Given the description of an element on the screen output the (x, y) to click on. 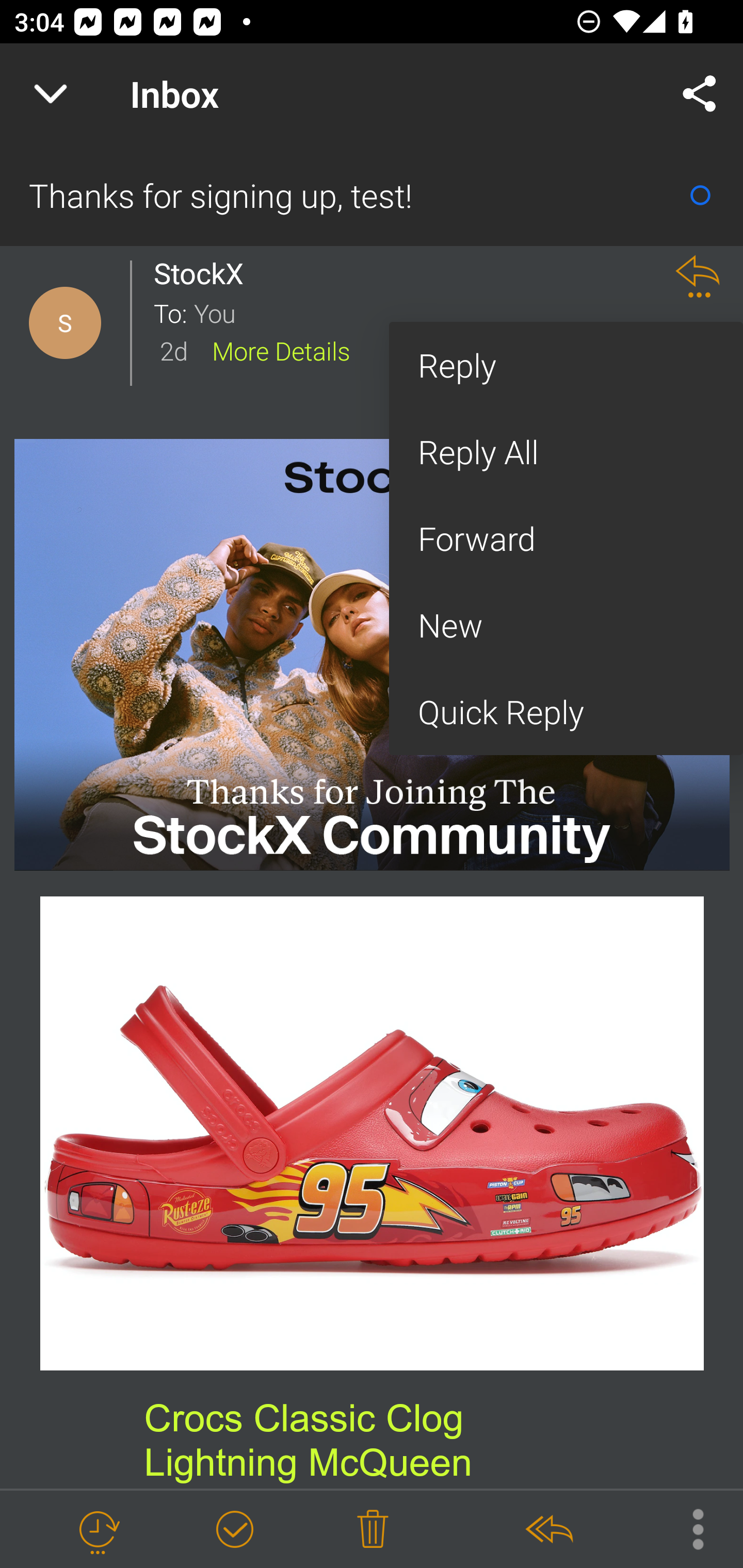
Reply (566, 365)
Reply All (566, 452)
Forward (566, 538)
New (566, 624)
Quick Reply (566, 711)
